Given the description of an element on the screen output the (x, y) to click on. 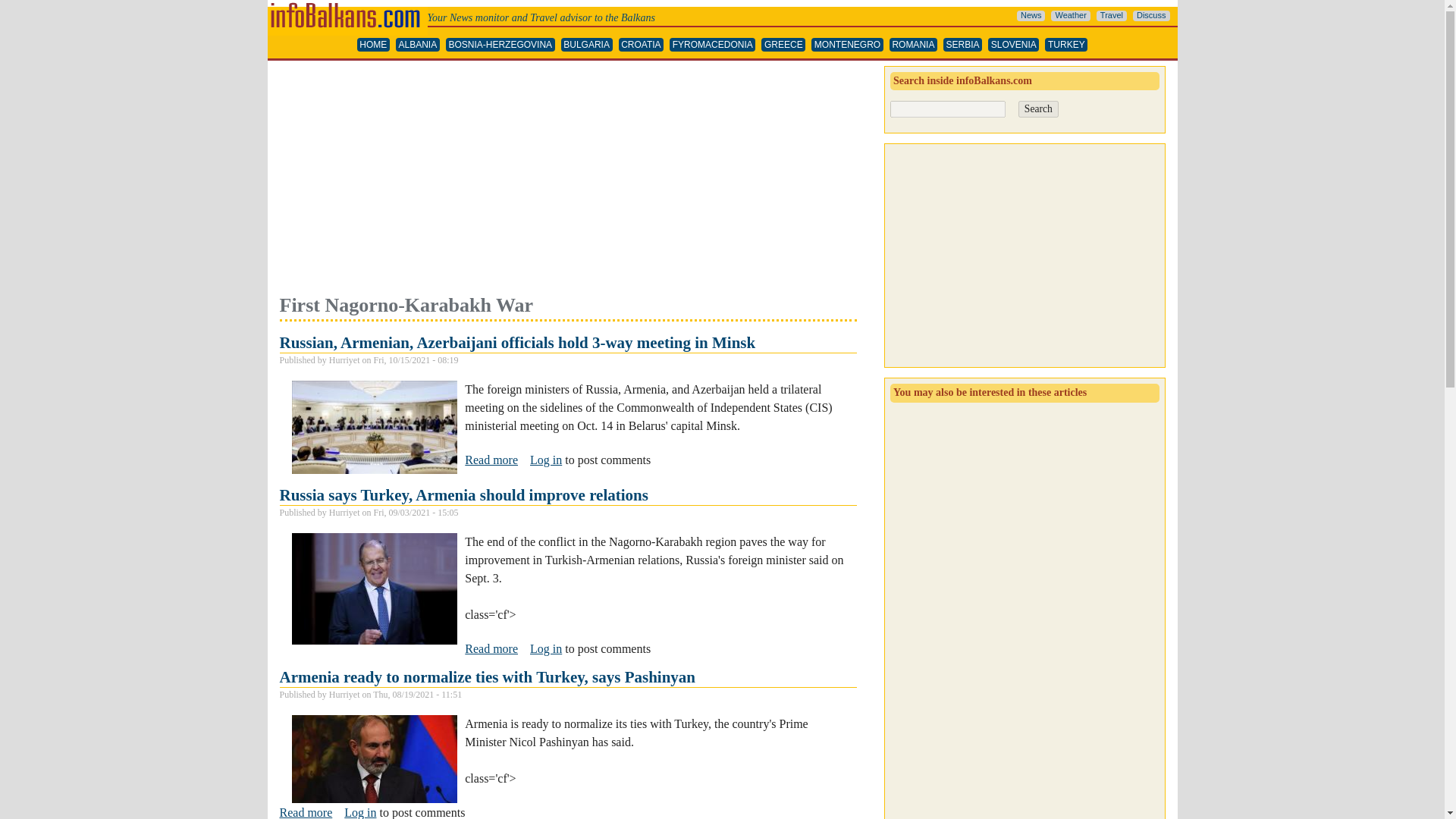
Armenia ready to normalize ties with Turkey, says Pashinyan (487, 677)
News (1030, 15)
ROMANIA (913, 44)
Advertisement (567, 178)
Russia says Turkey, Armenia should improve relations (463, 495)
MONTENEGRO (846, 44)
Discuss (1151, 15)
Log in (545, 648)
Log in (359, 812)
FYROMACEDONIA (712, 44)
SLOVENIA (1013, 44)
Russia says Turkey, Armenia should improve relations (491, 649)
